Given the description of an element on the screen output the (x, y) to click on. 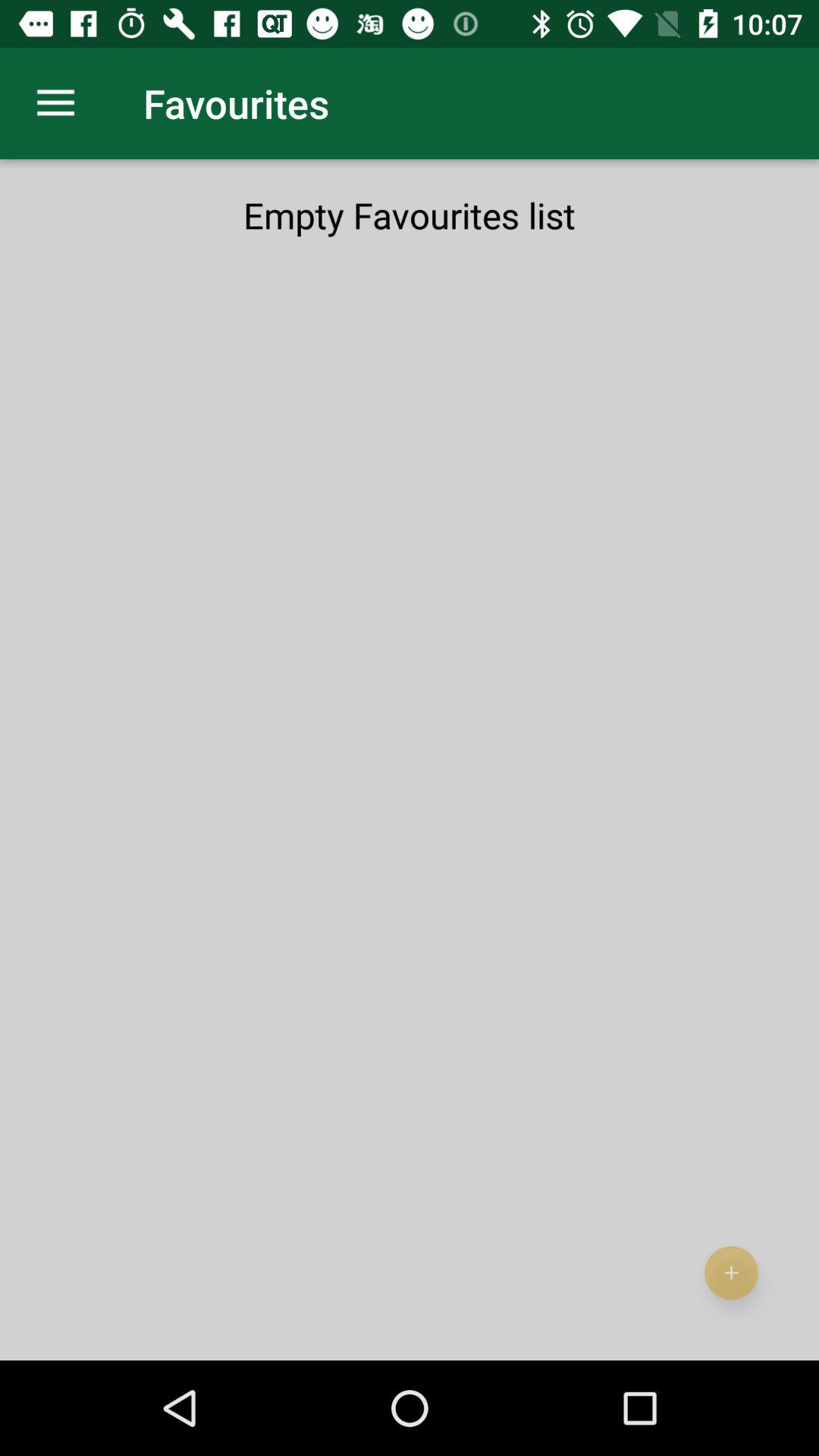
scroll to empty favourites list item (409, 215)
